Given the description of an element on the screen output the (x, y) to click on. 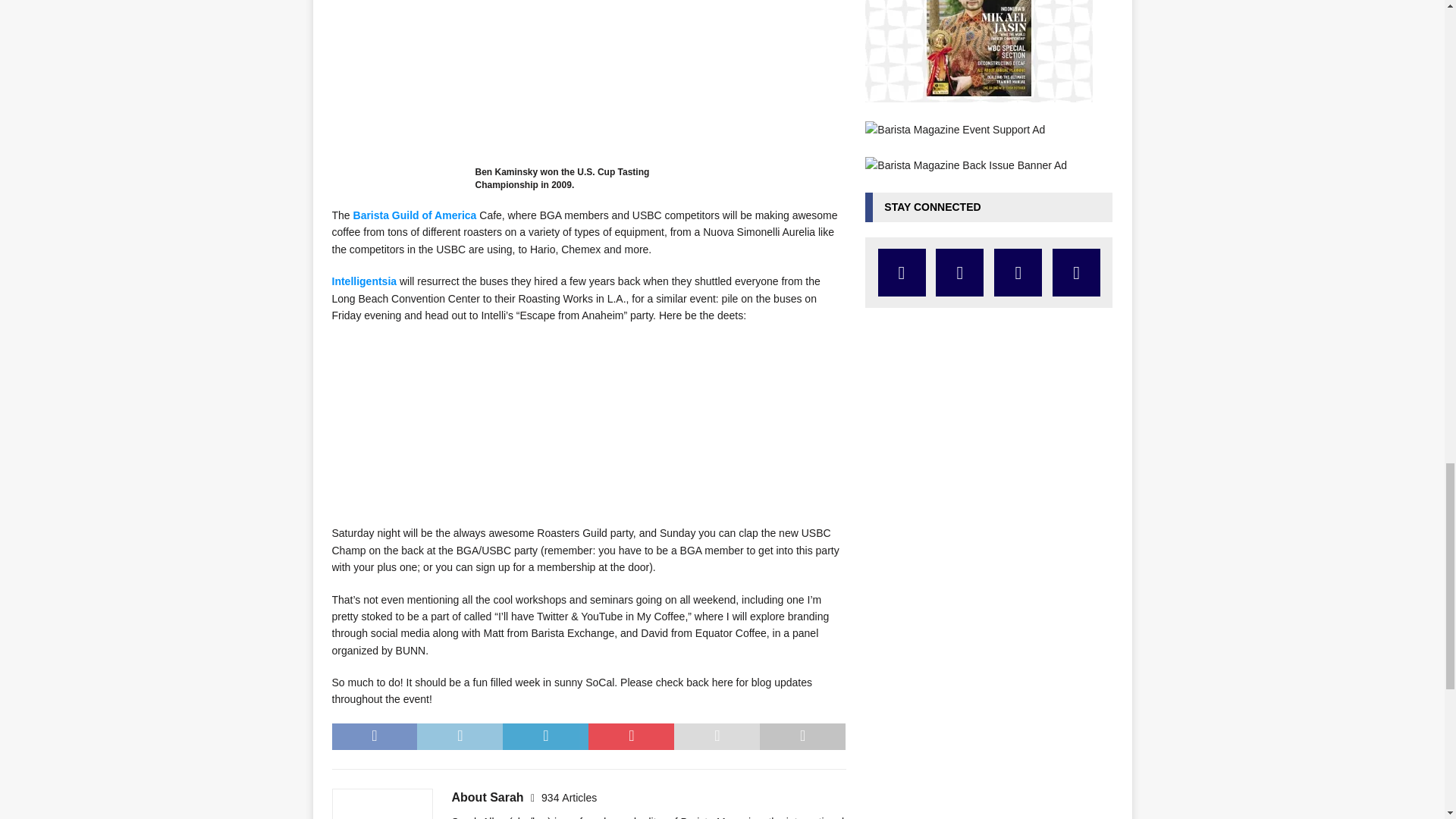
Specialty Coffee Association of America (589, 84)
